Given the description of an element on the screen output the (x, y) to click on. 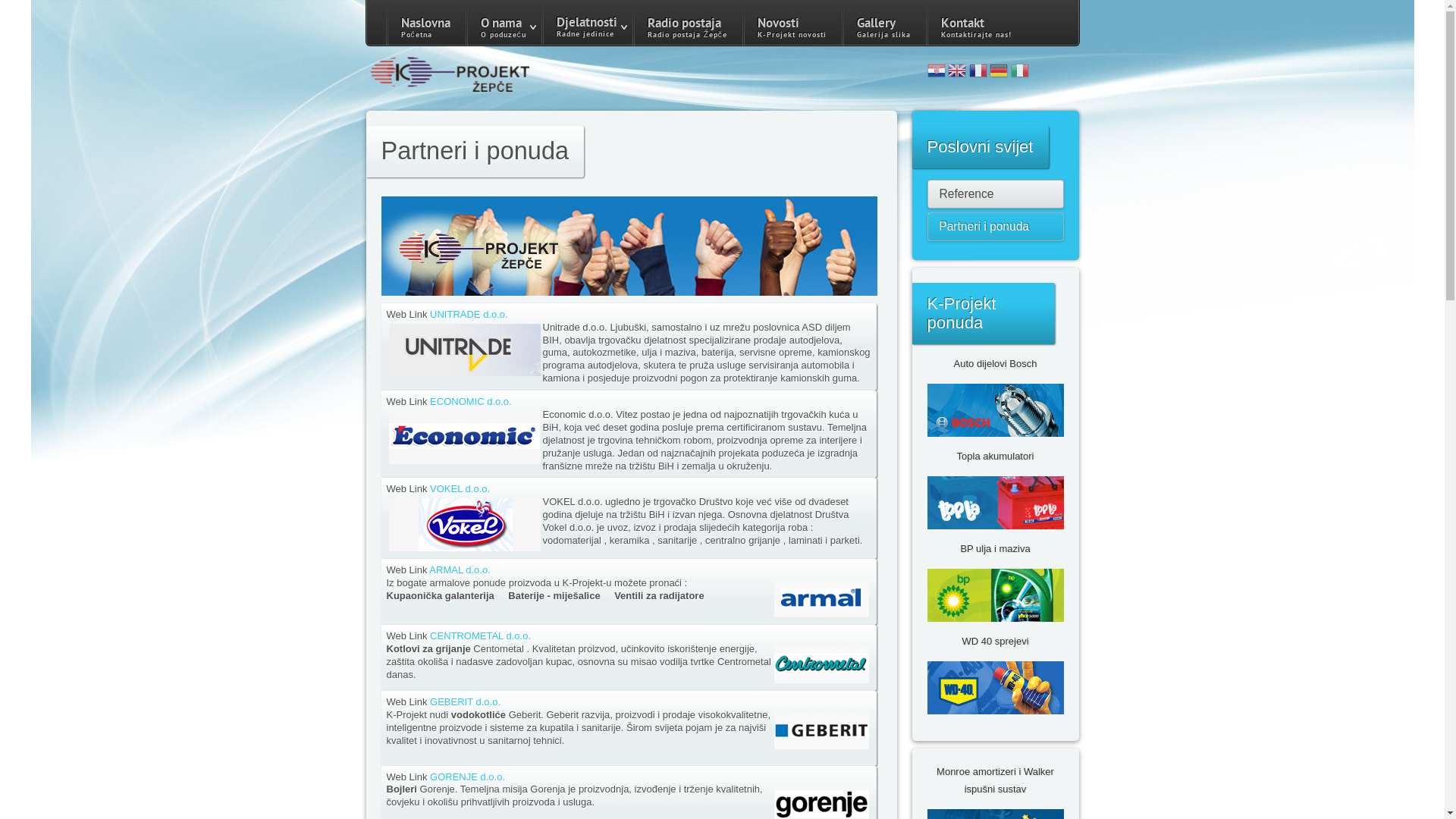
Italian Element type: hover (1019, 72)
Partneri i ponuda Element type: text (995, 226)
Gallery
Galerija slika Element type: text (883, 26)
Croatian Element type: hover (935, 72)
GEBERIT d.o.o. Element type: text (464, 701)
Kontakt
Kontaktirajte nas! Element type: text (975, 26)
ARMAL d.o.o. Element type: text (459, 569)
English Element type: hover (956, 72)
GORENJE d.o.o. Element type: text (467, 776)
CENTROMETAL d.o.o. Element type: text (479, 635)
Novosti
K-Projekt novosti Element type: text (791, 26)
ECONOMIC d.o.o. Element type: text (470, 401)
German Element type: hover (998, 72)
VOKEL d.o.o. Element type: text (459, 488)
UNITRADE d.o.o. Element type: text (468, 314)
French Element type: hover (978, 72)
